Given the description of an element on the screen output the (x, y) to click on. 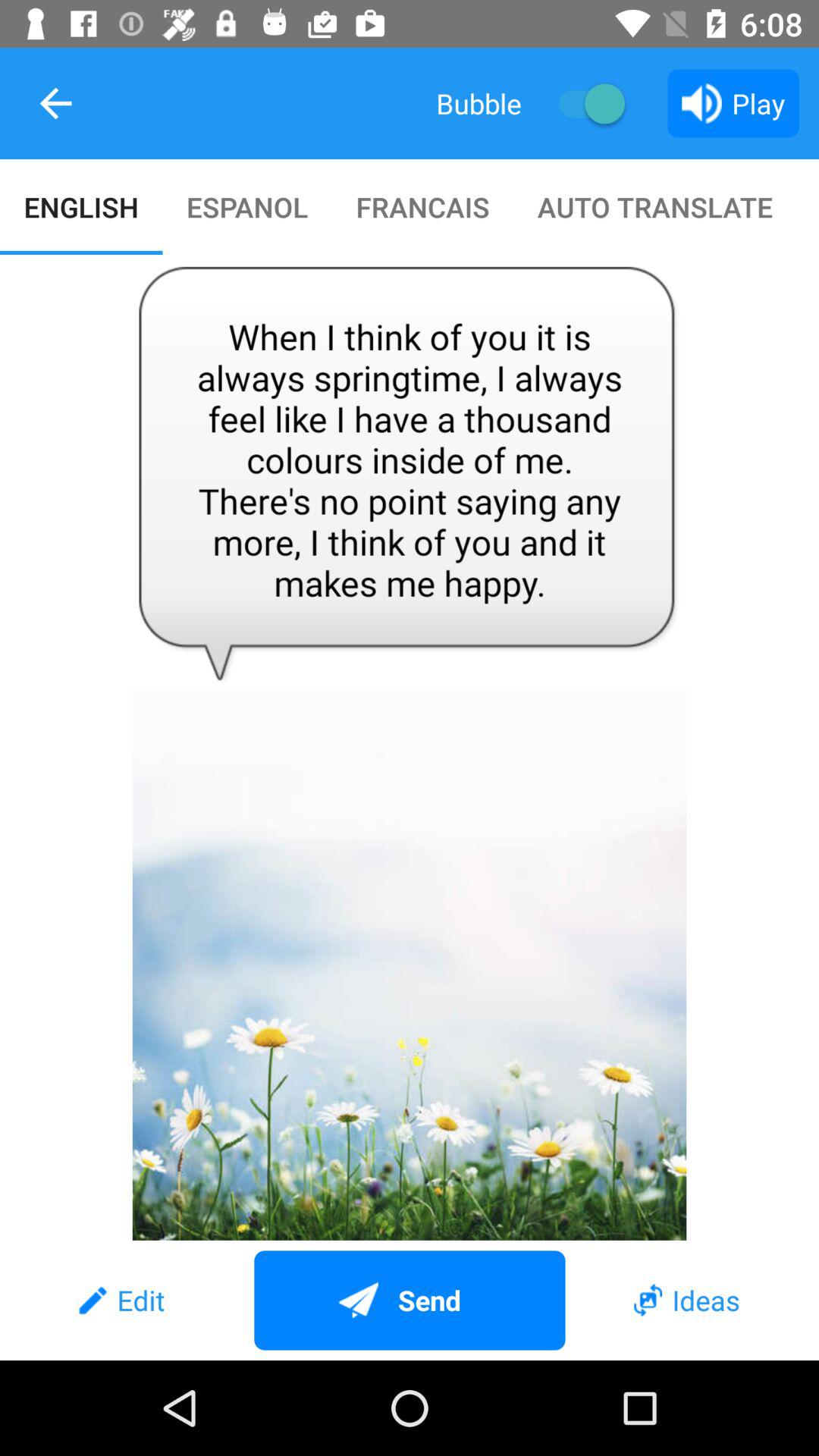
turn off item above auto translate item (584, 103)
